Given the description of an element on the screen output the (x, y) to click on. 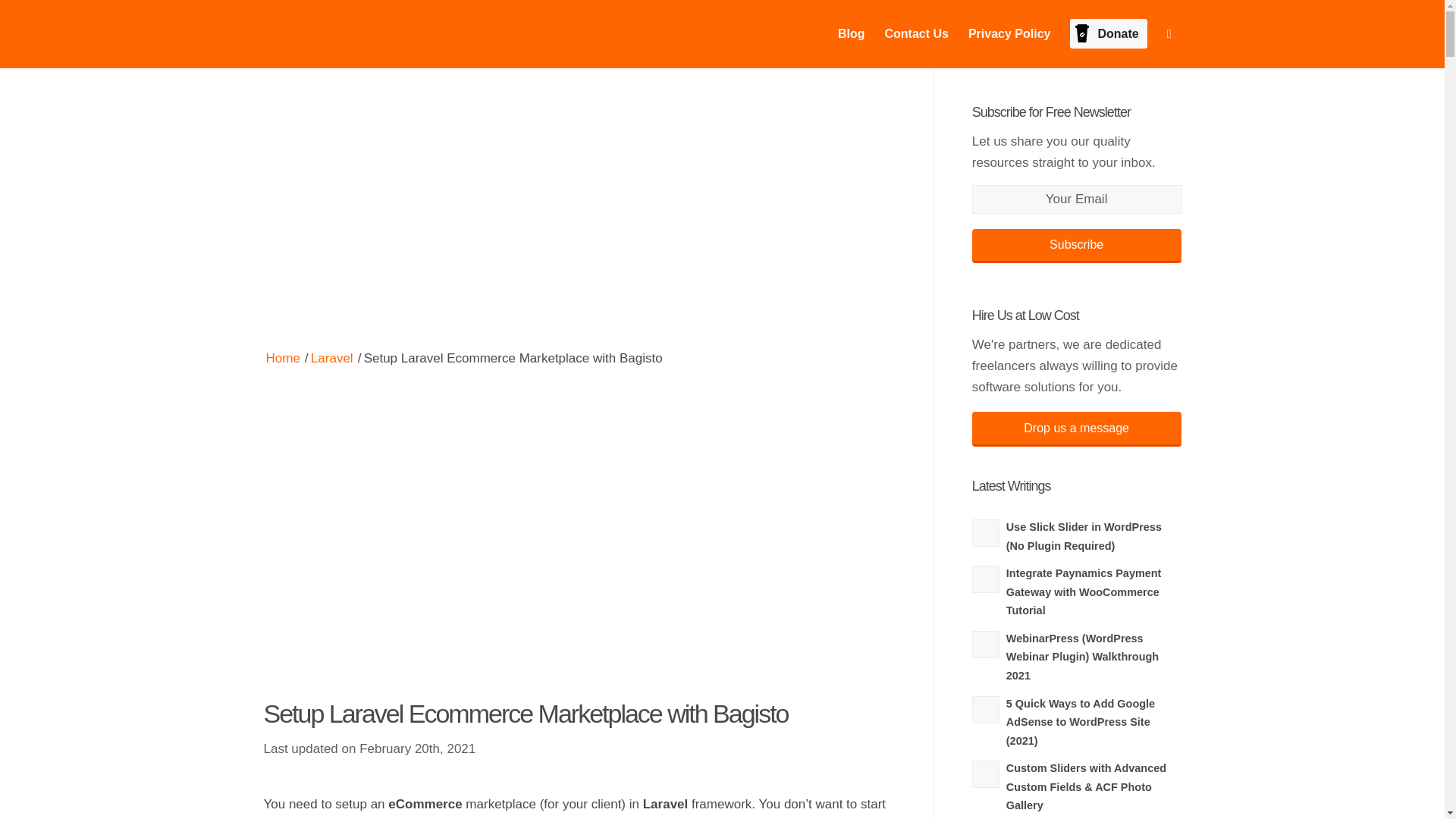
Advertisement (579, 211)
Contact Us (916, 33)
ScriptWriterPH (282, 358)
Donate (1107, 33)
scriptwriterph technical support - free consultation (736, 533)
Privacy Policy (1009, 33)
Setup Laravel Ecommerce Marketplace With Bagisto Platform (421, 533)
Subscribe (1076, 245)
Laravel (331, 358)
